Given the description of an element on the screen output the (x, y) to click on. 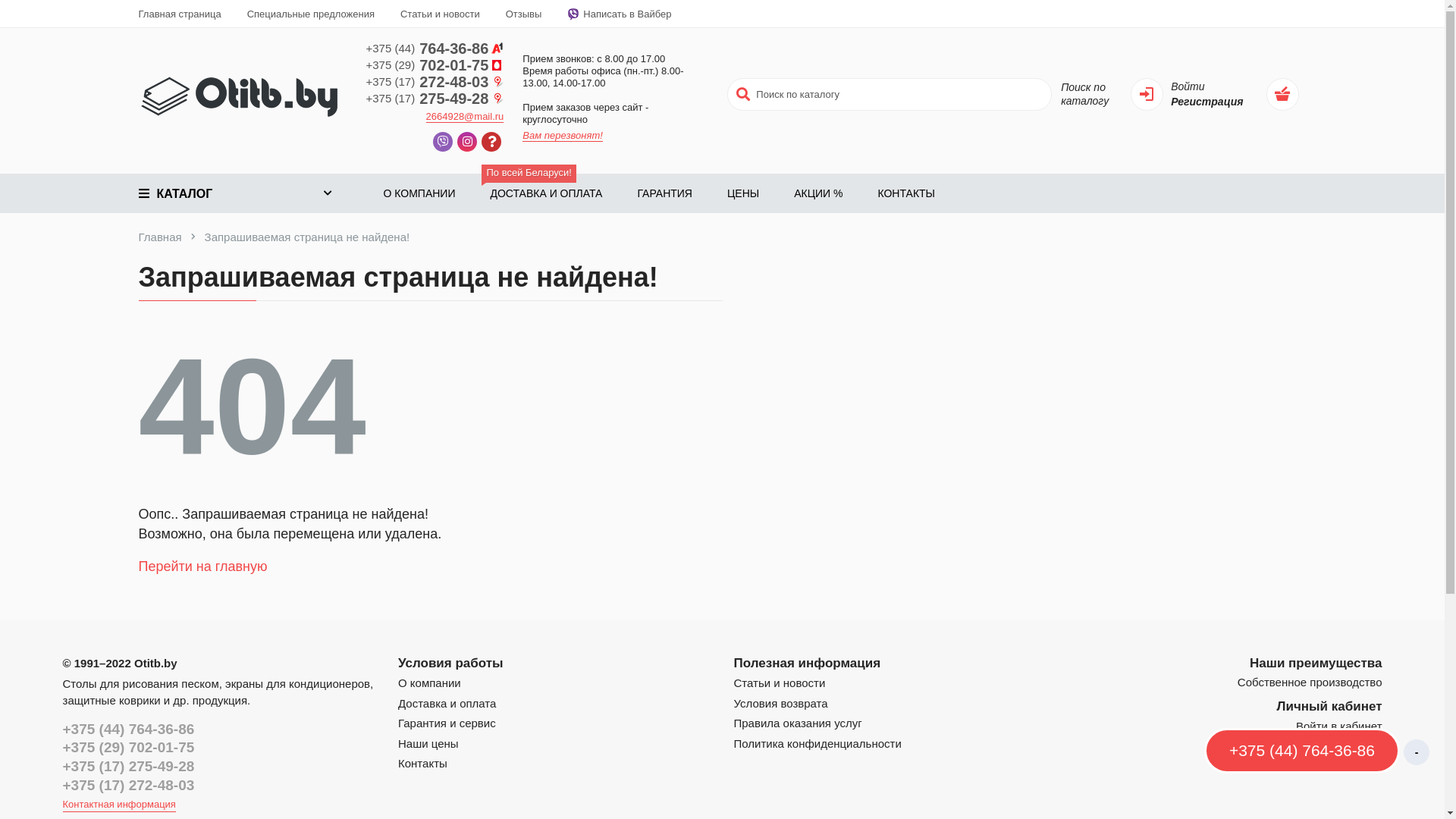
2664928@mail.ru Element type: text (465, 116)
- Element type: text (1416, 752)
+375 (17) 272-48-03 Element type: text (128, 785)
+375 (17)
275-49-28 Element type: text (434, 98)
+375 (17) 275-49-28 Element type: text (128, 766)
+375 (29)
702-01-75 Element type: text (434, 64)
+375 (44) 764-36-86 Element type: text (1301, 751)
+375 (44)
764-36-86 Element type: text (434, 48)
+375 (17)
272-48-03 Element type: text (434, 81)
+375 (44) 764-36-86 Element type: text (128, 729)
+375 (29) 702-01-75 Element type: text (128, 747)
